Given the description of an element on the screen output the (x, y) to click on. 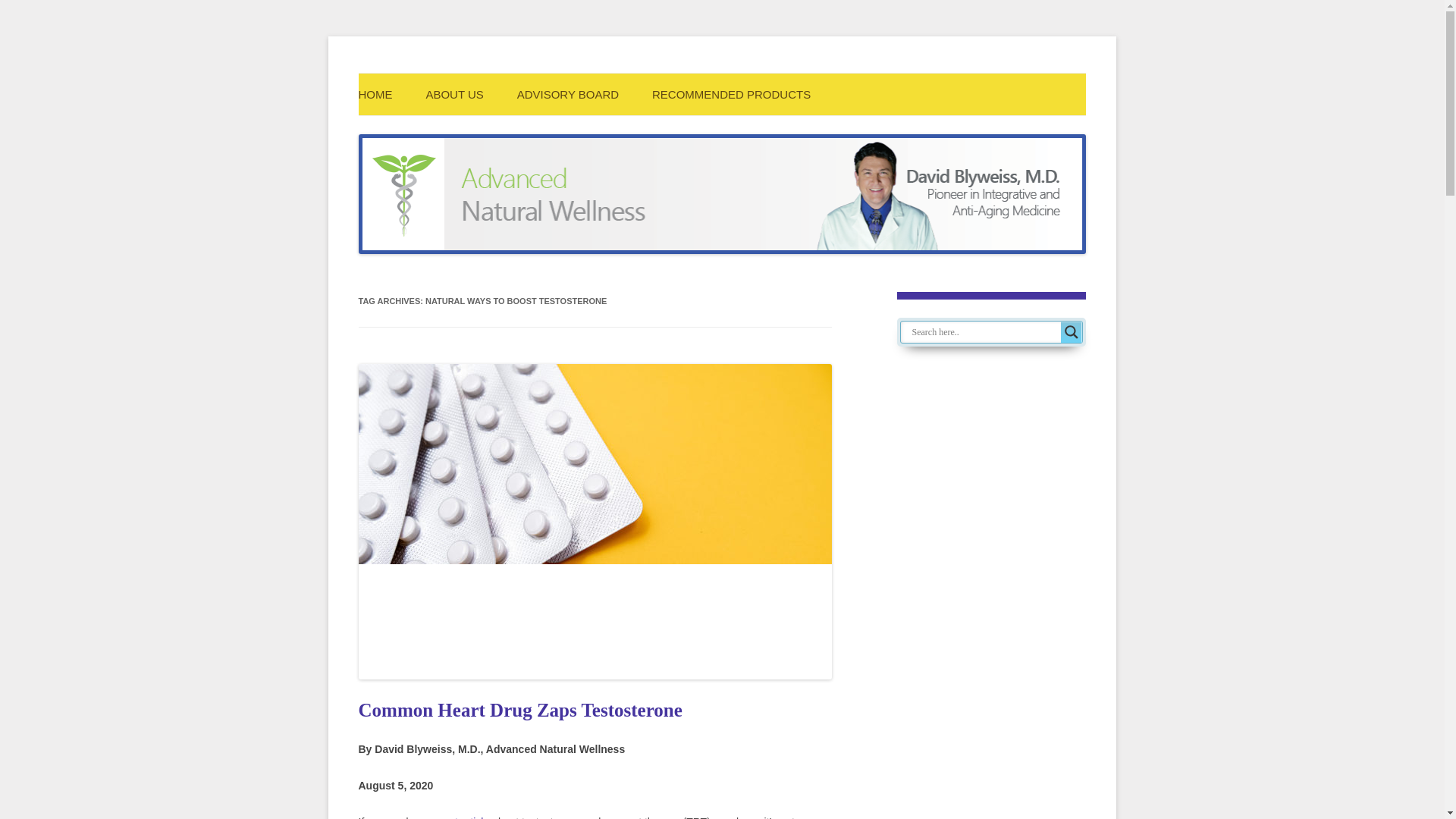
ADVISORY BOARD (568, 94)
HOME (374, 94)
Advanced Natural Wellness (604, 92)
Common Heart Drug Zaps Testosterone (519, 710)
RECOMMENDED PRODUCTS (731, 94)
ABOUT US (454, 94)
recent article (458, 817)
